Given the description of an element on the screen output the (x, y) to click on. 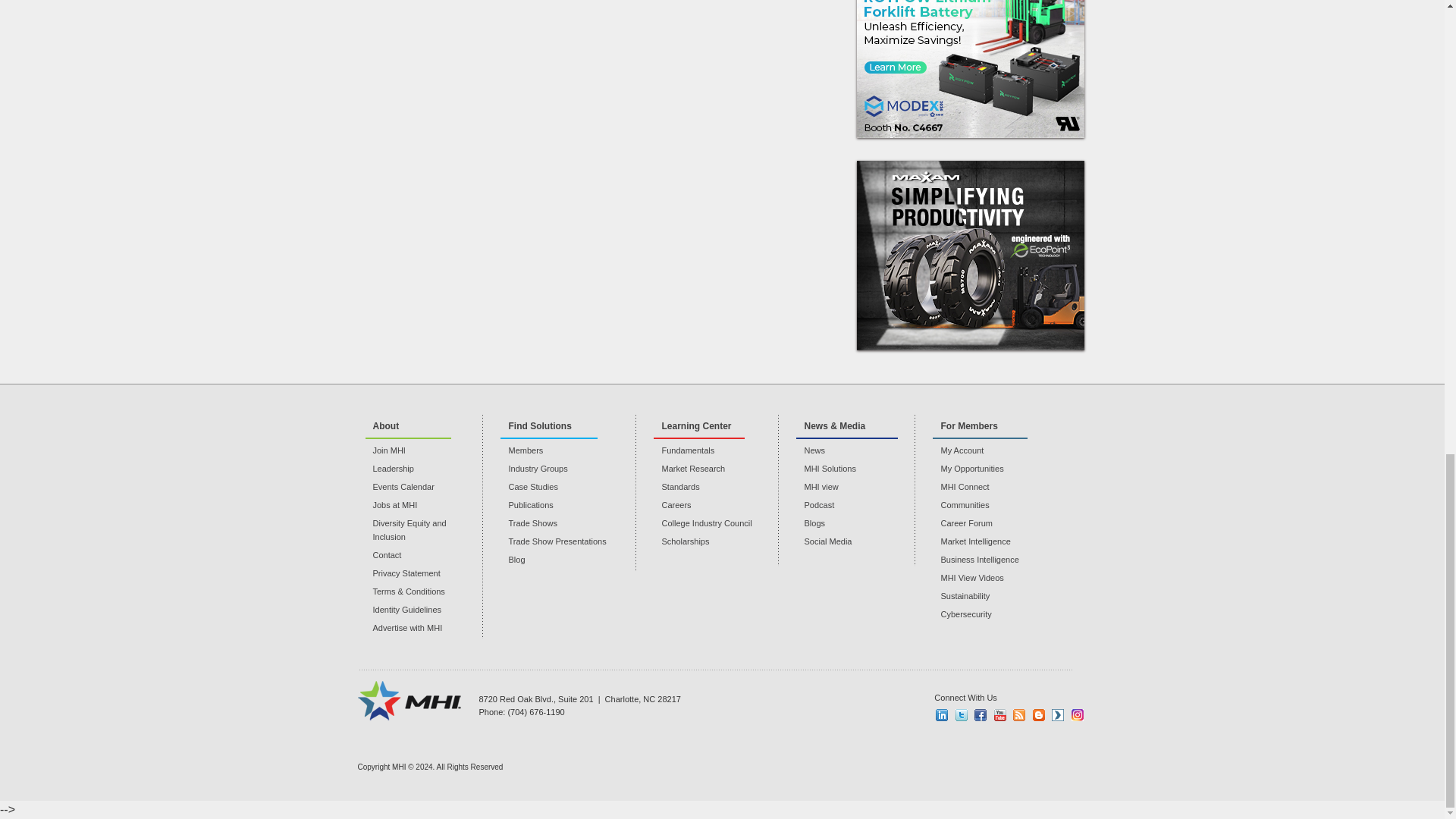
Like MHI on Facebook (980, 715)
View Our Videos (1057, 715)
Follow MHI on Twitter (961, 715)
Join the MHI group on LinkedIn (941, 715)
Follow the MHI channel on YouTube (1000, 715)
Follow MHI on Instagram (1076, 715)
Subscribe to the MHI RSS feeds (1019, 715)
Read Our Blog (1038, 715)
